Given the description of an element on the screen output the (x, y) to click on. 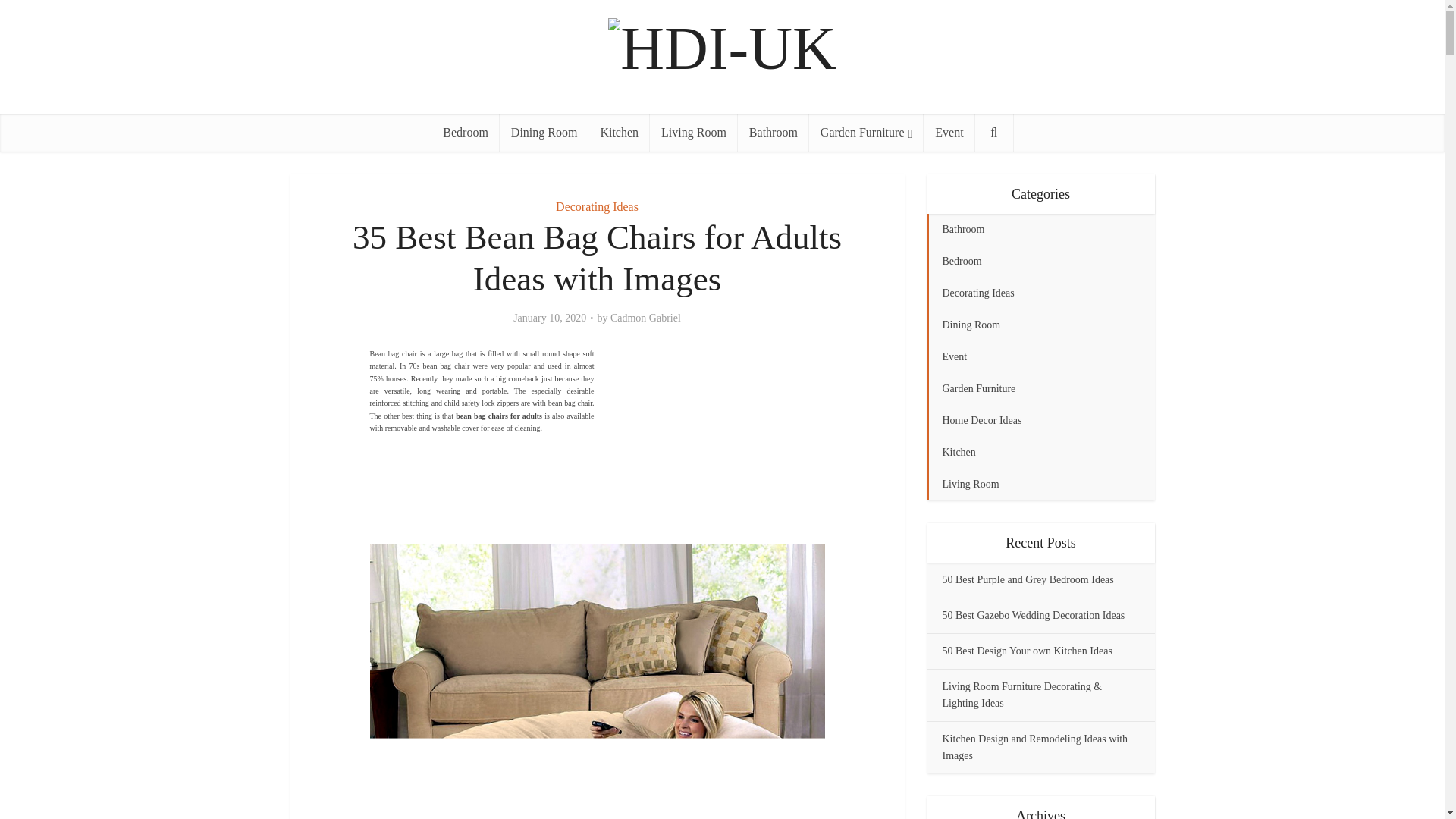
Living Room (693, 132)
Bedroom (464, 132)
Bathroom (773, 132)
Kitchen (618, 132)
Cadmon Gabriel (645, 318)
Garden Furniture (866, 132)
Dining Room (544, 132)
Event (948, 132)
Decorating Ideas (597, 205)
HDI-UK (721, 44)
